Given the description of an element on the screen output the (x, y) to click on. 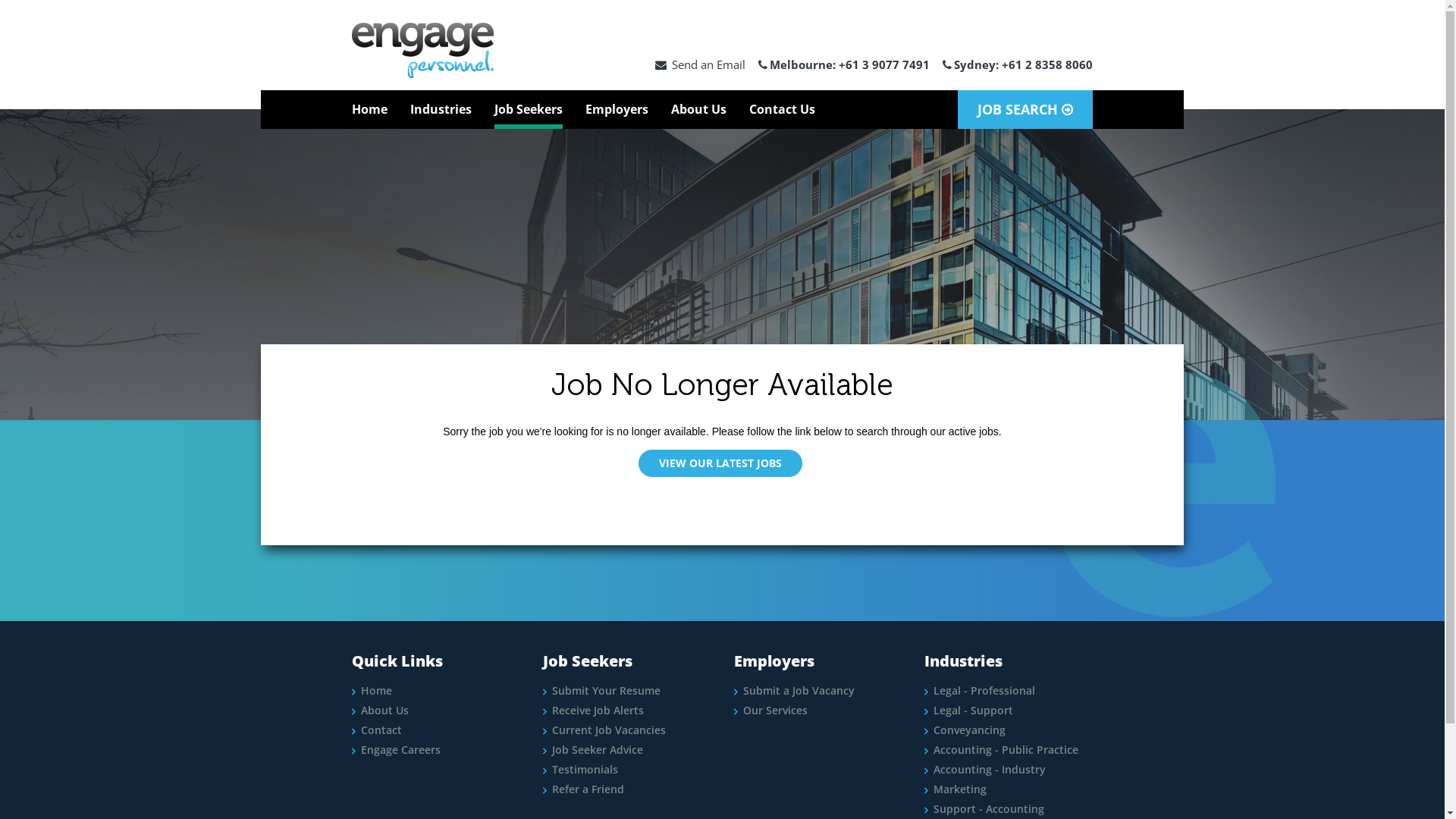
Legal - Support Element type: text (968, 710)
Current Job Vacancies Element type: text (603, 729)
Our Services Element type: text (770, 710)
Marketing Element type: text (955, 789)
Contact Element type: text (376, 729)
Industries Element type: text (440, 109)
Job Seeker Advice Element type: text (592, 749)
Job Seekers Element type: text (528, 109)
Melbourne: +61 3 9077 7491 Element type: text (843, 64)
Employers Element type: text (616, 109)
Engage Careers Element type: text (395, 749)
Sydney: +61 2 8358 8060 Element type: text (1017, 64)
Submit a Job Vacancy Element type: text (794, 690)
Accounting - Industry Element type: text (984, 769)
Conveyancing Element type: text (964, 729)
VIEW OUR LATEST JOBS Element type: text (720, 462)
Submit Your Resume Element type: text (601, 690)
Testimonials Element type: text (580, 769)
About Us Element type: text (698, 109)
Receive Job Alerts Element type: text (592, 710)
Send an Email Element type: text (700, 64)
Home Element type: text (369, 109)
Refer a Friend Element type: text (583, 789)
Support - Accounting Element type: text (984, 808)
JOB SEARCH Element type: text (1024, 109)
Contact Us Element type: text (782, 109)
Legal - Professional Element type: text (979, 690)
About Us Element type: text (379, 710)
Accounting - Public Practice Element type: text (1001, 749)
Home Element type: text (371, 690)
